Given the description of an element on the screen output the (x, y) to click on. 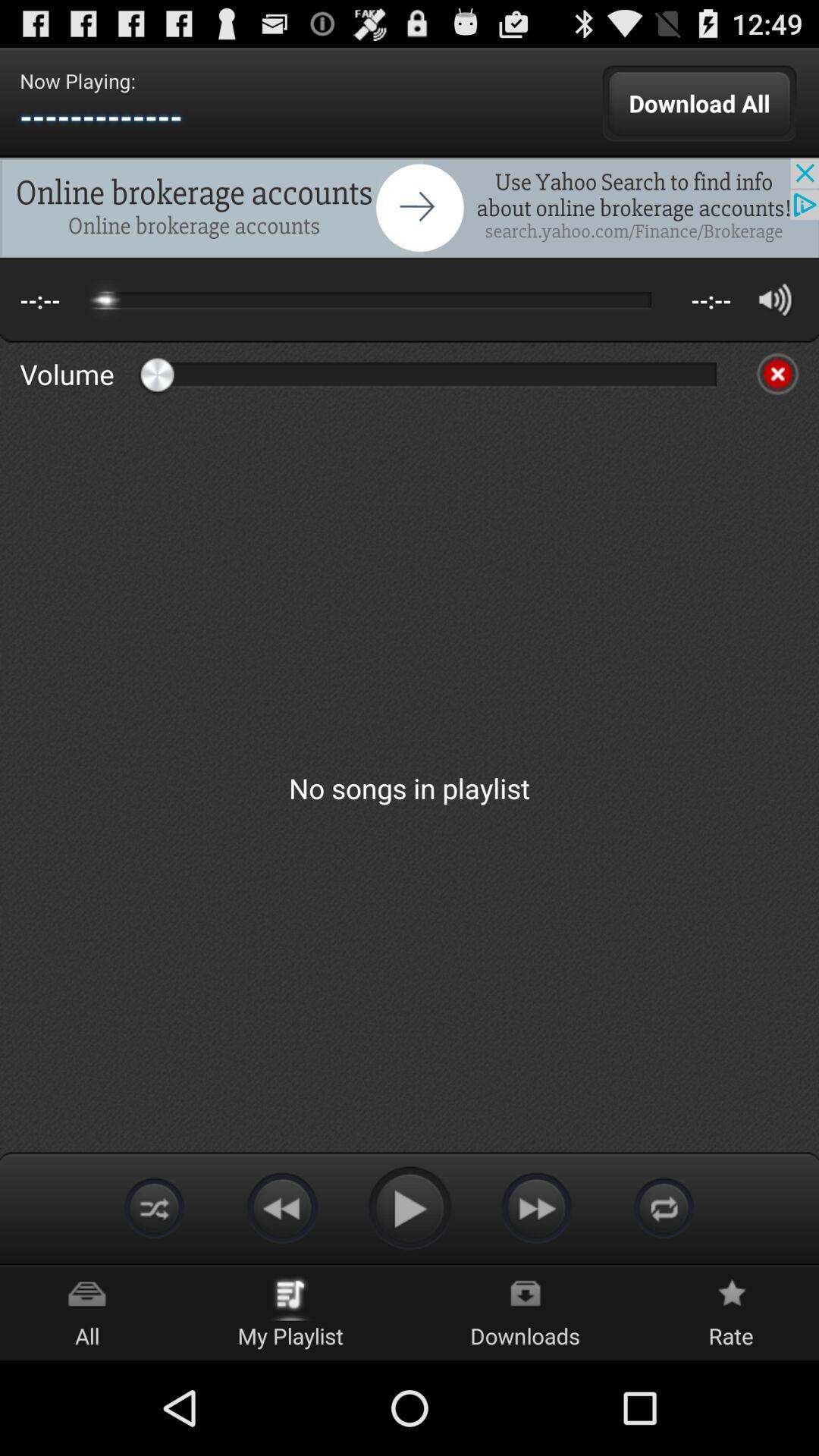
back forward media (281, 1207)
